Given the description of an element on the screen output the (x, y) to click on. 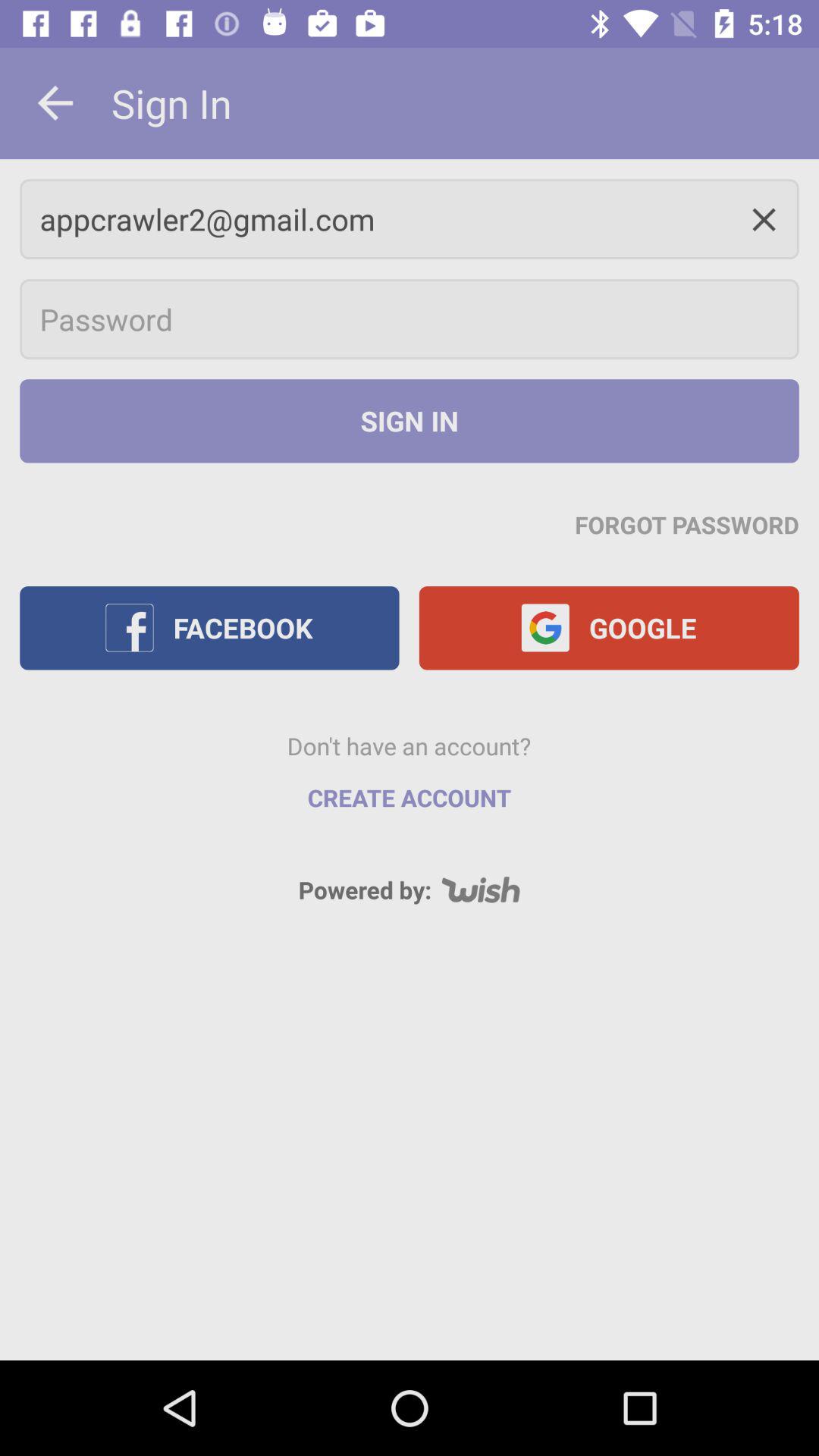
launch item above the powered by: item (409, 797)
